Given the description of an element on the screen output the (x, y) to click on. 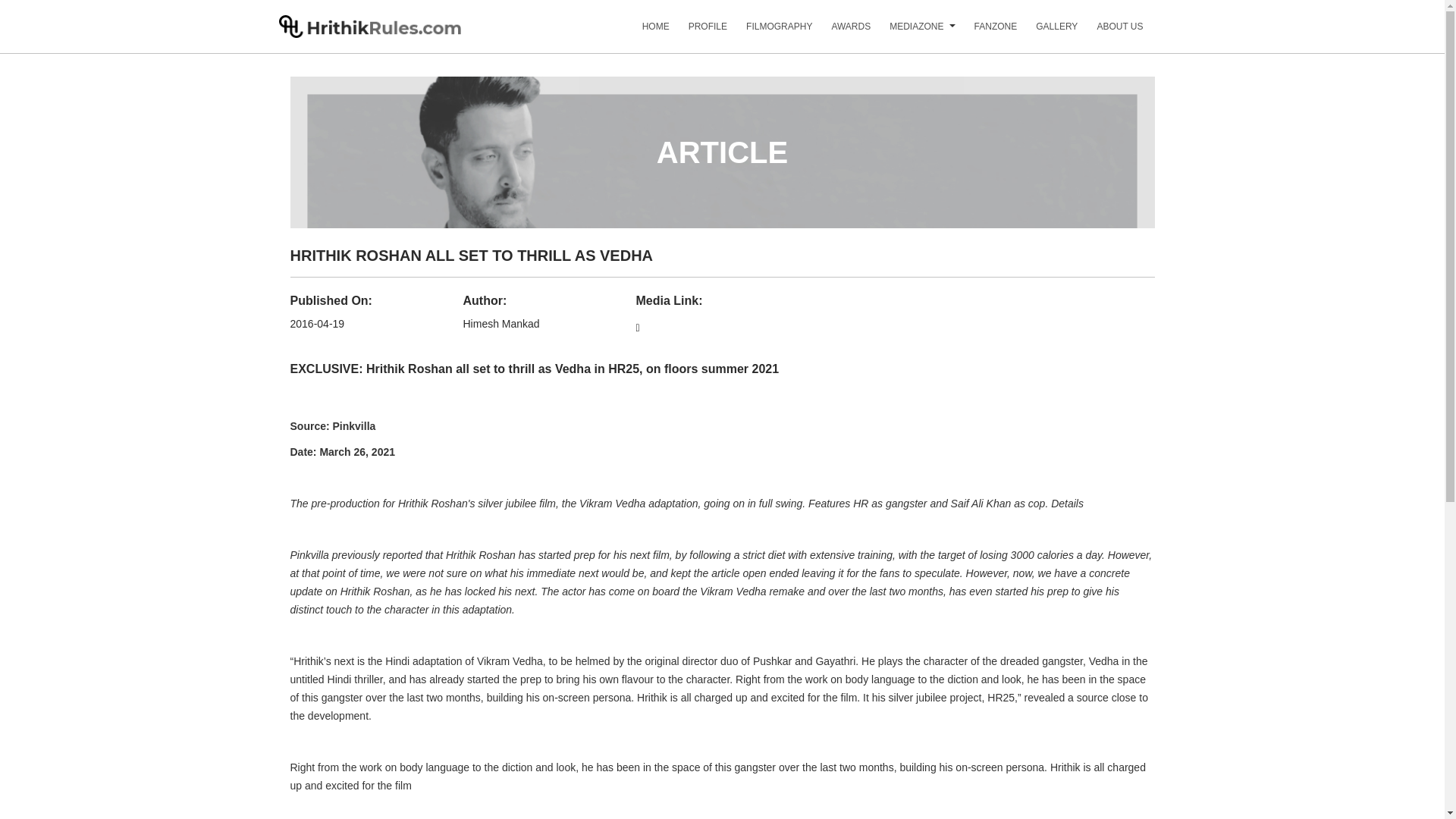
HOME (646, 31)
ABOUT US (1109, 31)
MEDIAZONE (906, 31)
AWARDS (841, 31)
PROFILE (697, 31)
GALLERY (1046, 31)
FILMOGRAPHY (769, 31)
FANZONE (986, 31)
